Given the description of an element on the screen output the (x, y) to click on. 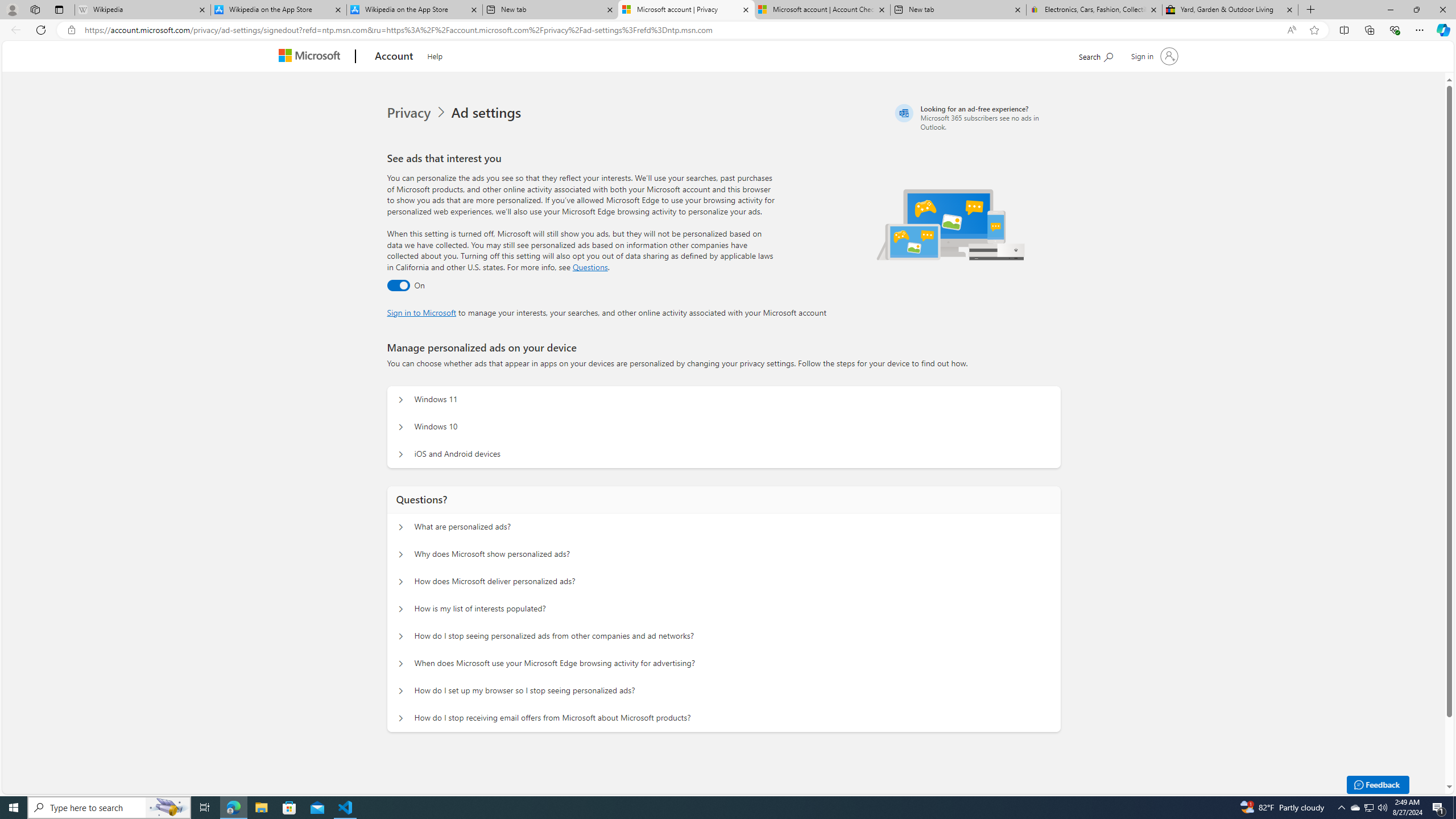
Search Microsoft.com (1095, 54)
